Given the description of an element on the screen output the (x, y) to click on. 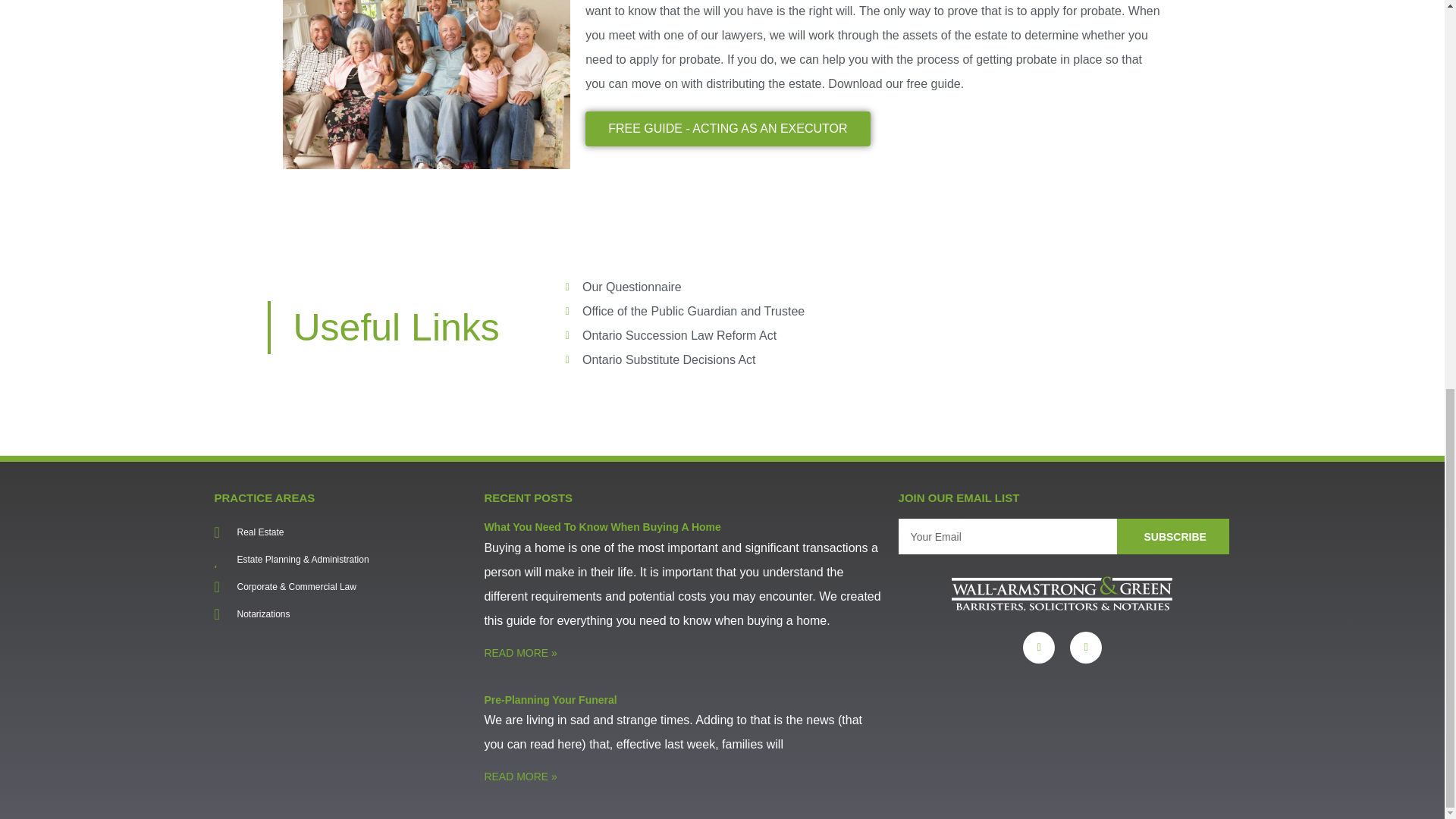
Real Estate (341, 532)
Ontario Succession Law Reform Act (858, 335)
Our Questionnaire (858, 287)
Ontario Substitute Decisions Act (858, 360)
Office of the Public Guardian and Trustee (858, 311)
FREE GUIDE - ACTING AS AN EXECUTOR (727, 128)
